Given the description of an element on the screen output the (x, y) to click on. 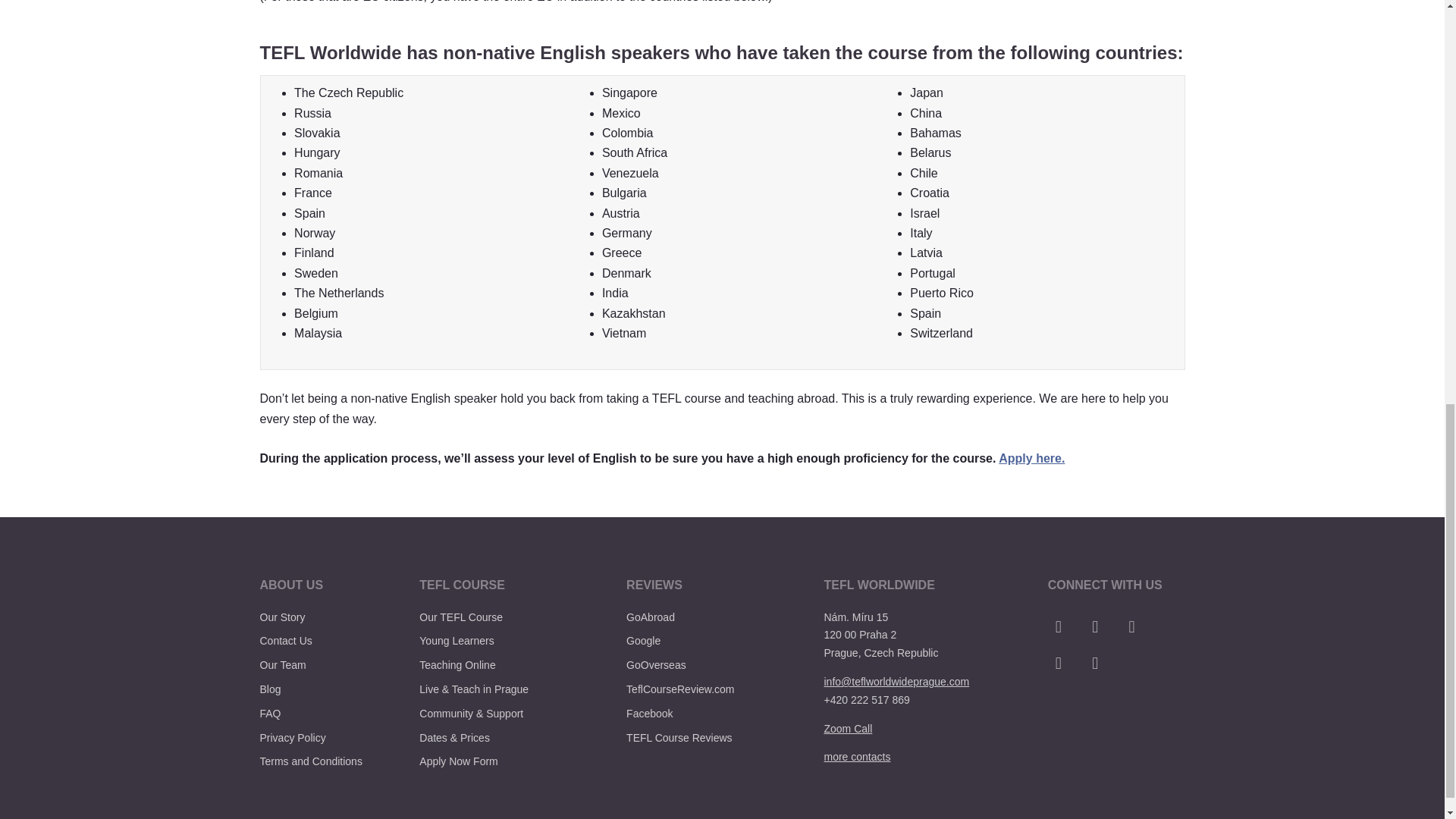
Apply here. (1031, 458)
Contact Us (285, 640)
Blog (270, 689)
Our Team (282, 664)
Our Story (281, 616)
